Given the description of an element on the screen output the (x, y) to click on. 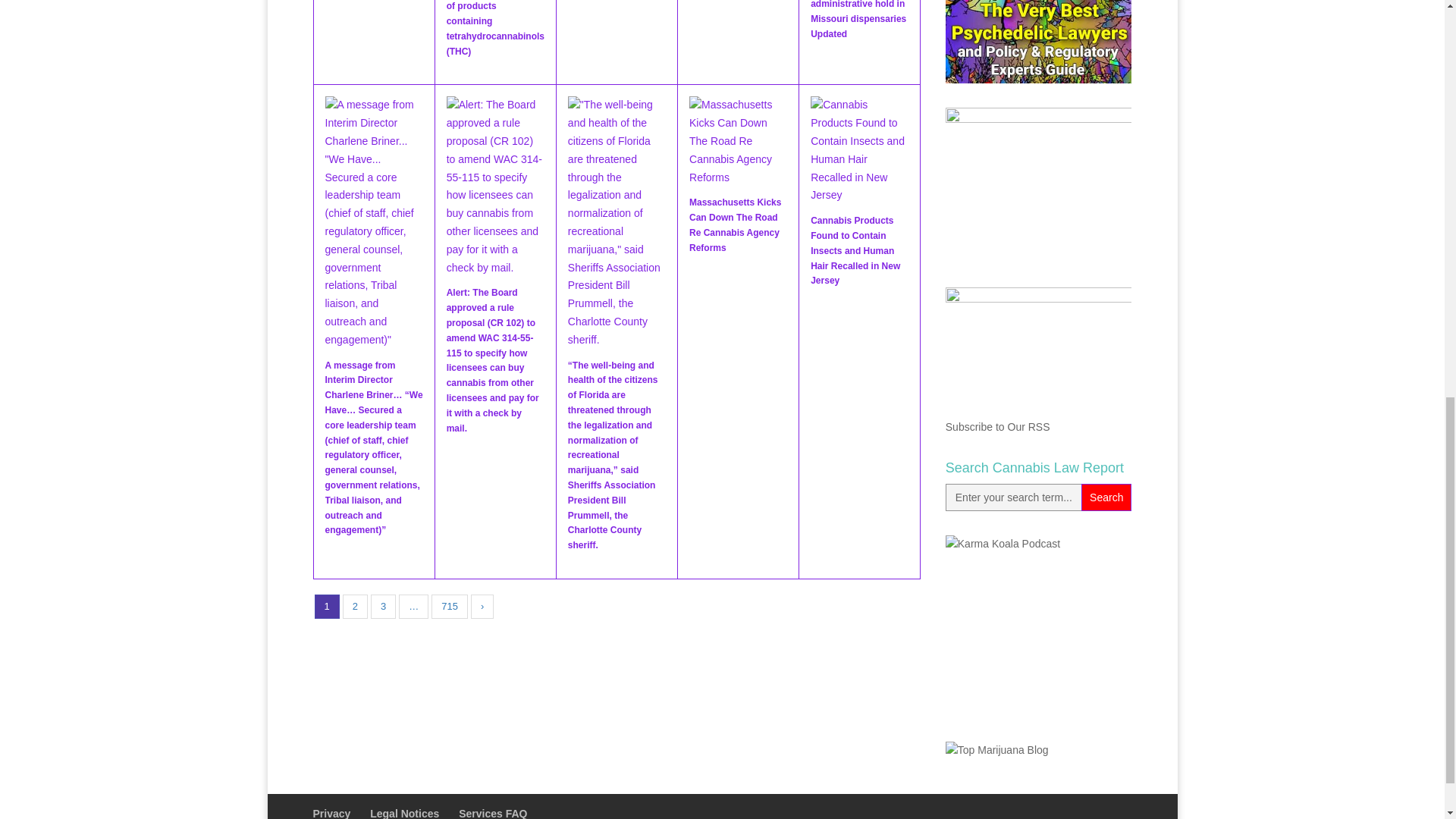
Search (1106, 497)
Search (1106, 497)
